Given the description of an element on the screen output the (x, y) to click on. 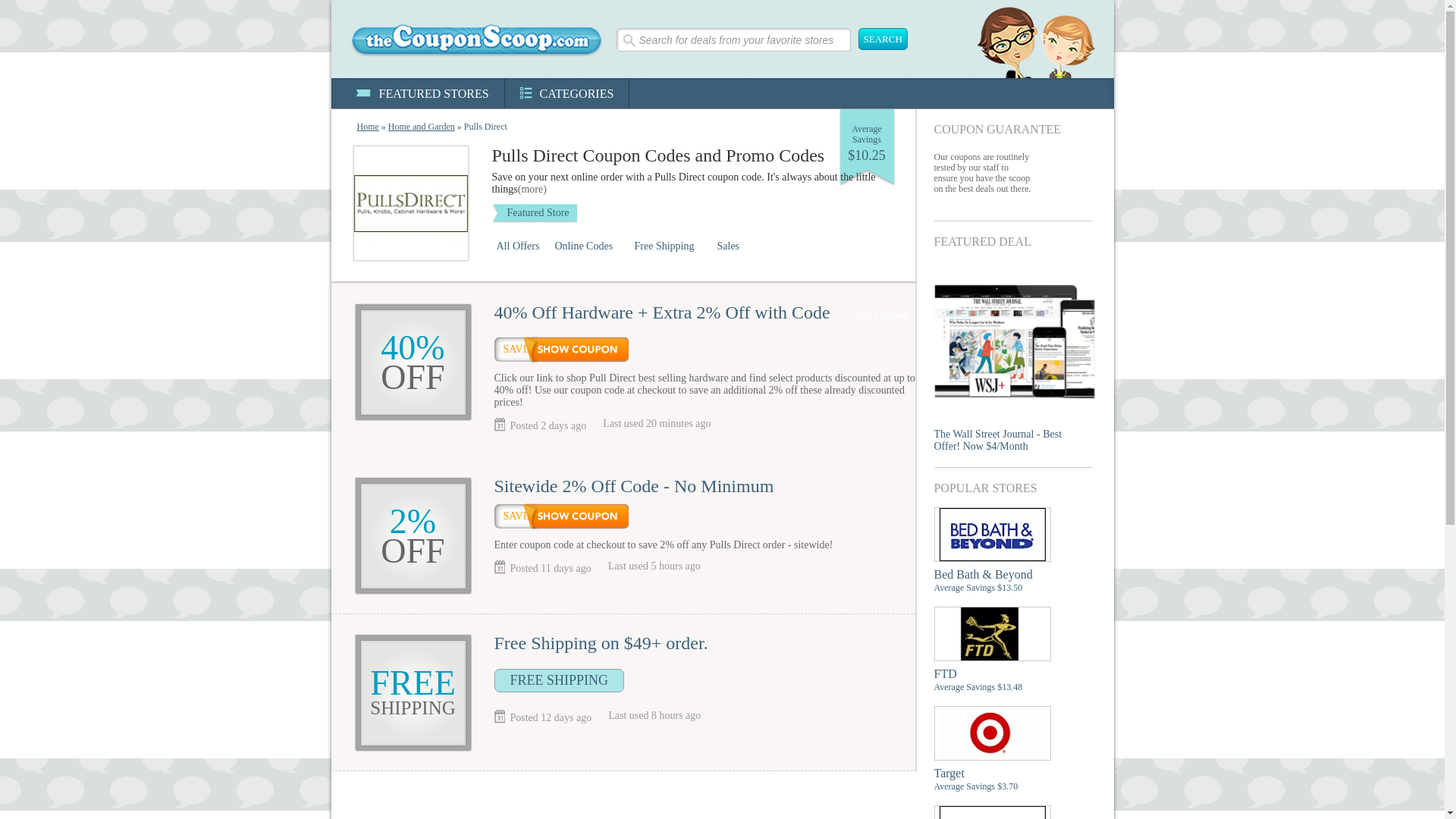
CATEGORIES (566, 92)
SEARCH (883, 38)
FEATURED STORES (421, 92)
SAVIN (561, 516)
SEARCH (883, 38)
Online Codes (590, 245)
Free Shipping (669, 245)
All Offers (521, 245)
Search for deals from your favorite stores (732, 39)
SAVIN (561, 349)
FREE SHIPPING (559, 680)
Sales (730, 245)
Home and Garden (421, 126)
SEARCH (883, 38)
Home (367, 126)
